Given the description of an element on the screen output the (x, y) to click on. 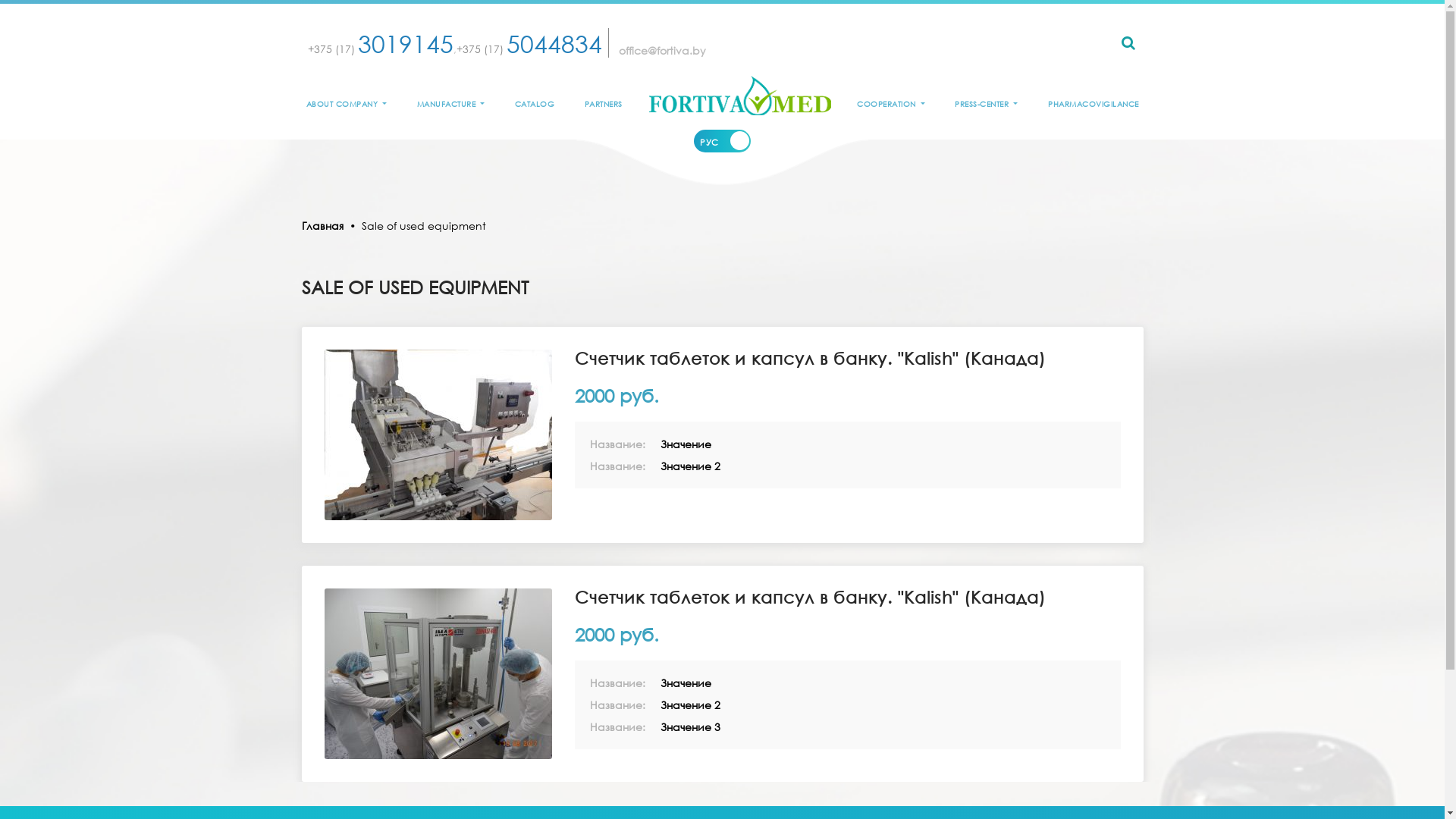
ABOUT COMPANY Element type: text (345, 104)
+375 (17) 5044834 Element type: text (529, 48)
COOPERATION Element type: text (890, 104)
CATALOG Element type: text (534, 104)
+375 (17) 3019145 Element type: text (380, 48)
MANUFACTURE Element type: text (451, 104)
LOGO Element type: text (740, 95)
PHARMACOVIGILANCE Element type: text (1093, 104)
office@fortiva.by Element type: text (662, 50)
PARTNERS Element type: text (603, 104)
PRESS-CENTER Element type: text (985, 104)
